Given the description of an element on the screen output the (x, y) to click on. 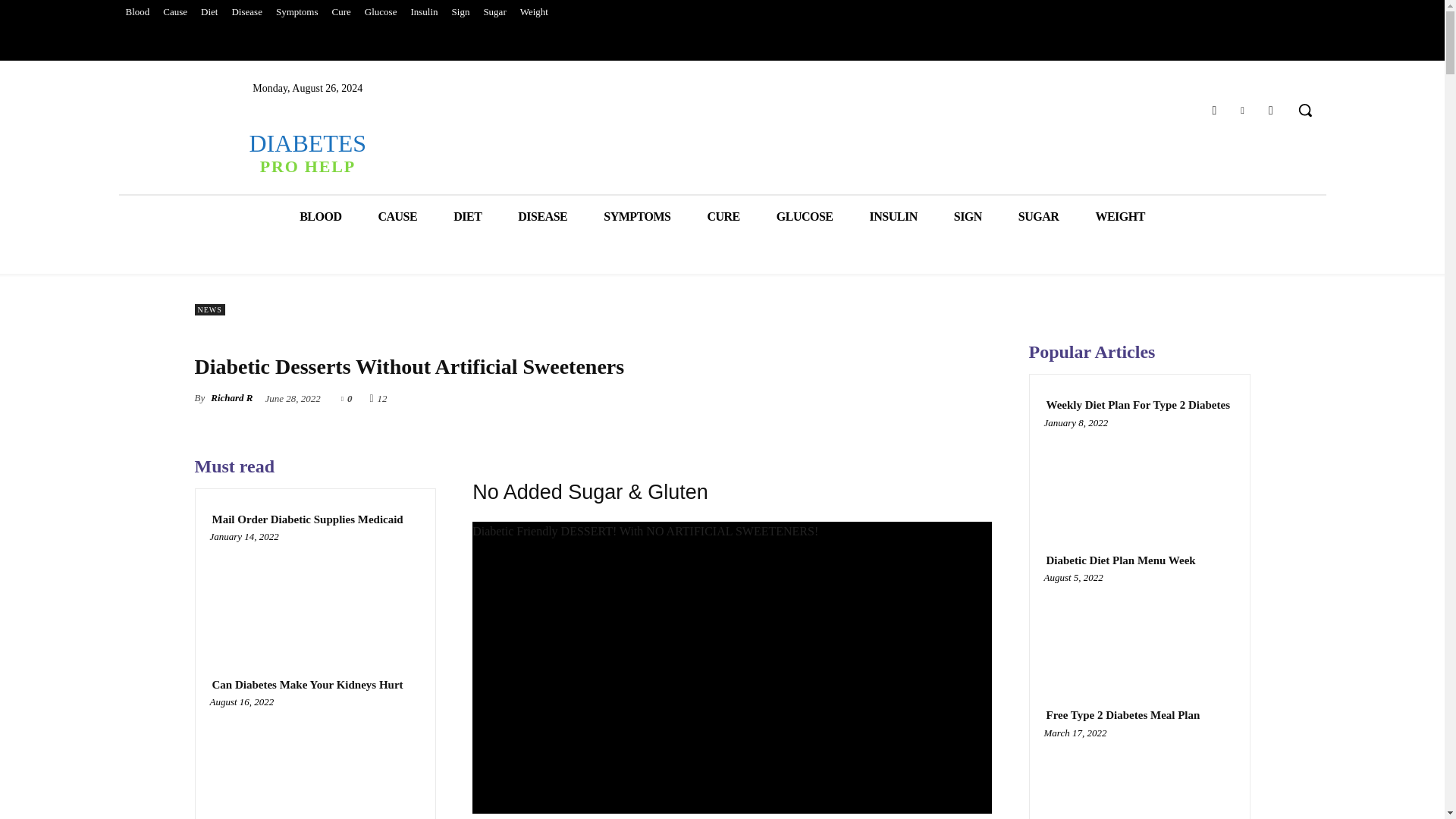
Sugar (494, 12)
Mail Order Diabetic Supplies Medicaid (306, 519)
GLUCOSE (804, 216)
CURE (722, 216)
Youtube (1270, 109)
SIGN (968, 216)
DIET (306, 152)
Glucose (467, 216)
WEIGHT (381, 12)
